Given the description of an element on the screen output the (x, y) to click on. 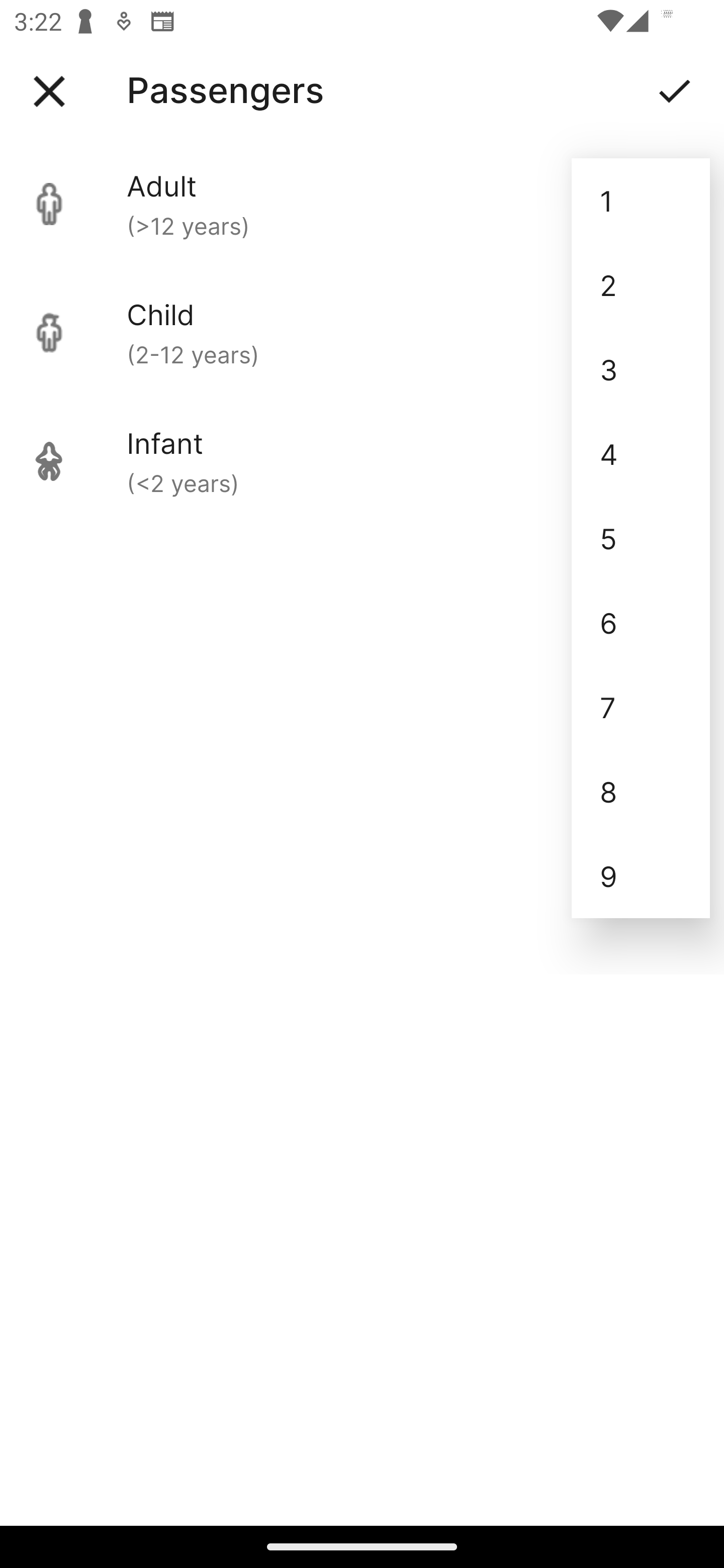
1 (640, 200)
2 (640, 285)
3 (640, 368)
4 (640, 452)
5 (640, 537)
6 (640, 622)
7 (640, 706)
8 (640, 791)
9 (640, 876)
